Given the description of an element on the screen output the (x, y) to click on. 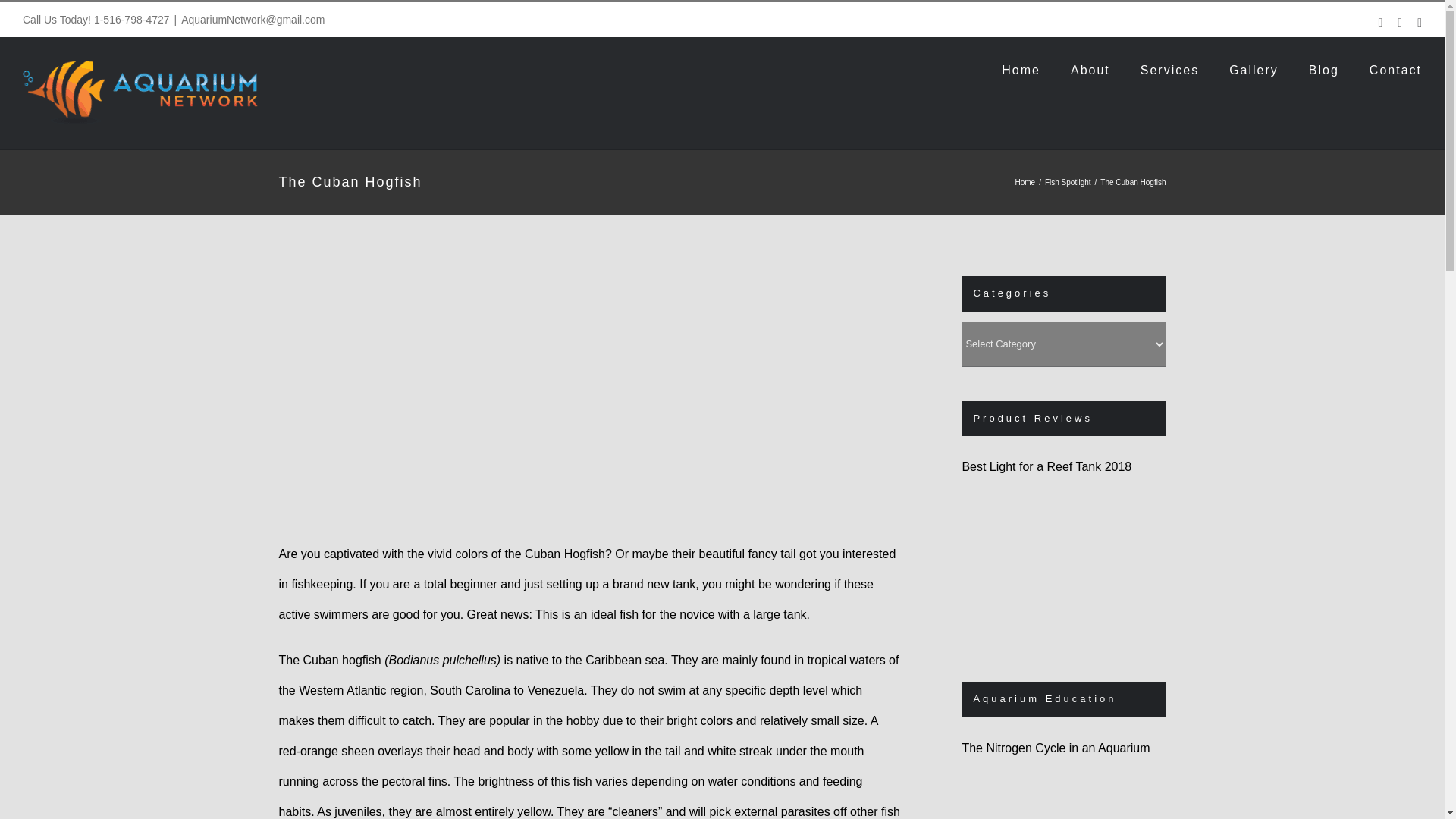
Best Light for a Reef Tank 2018 (1036, 565)
Services (1169, 68)
Home (1024, 182)
Fish Spotlight (1067, 182)
YouTube video player 1 (506, 675)
The Nitrogen Cycle in an Aquarium (1036, 795)
